Given the description of an element on the screen output the (x, y) to click on. 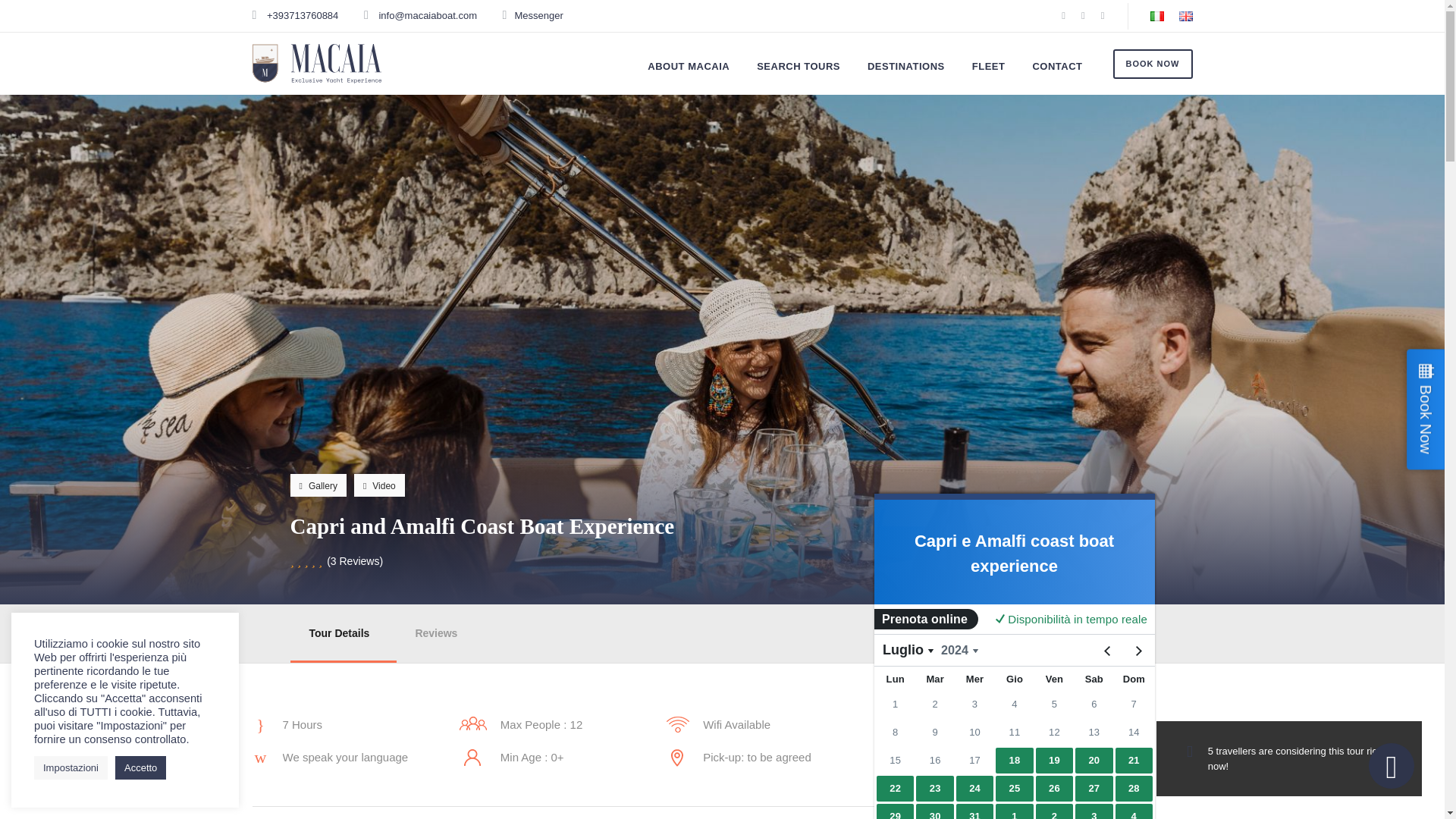
DESTINATIONS (905, 69)
single-icon-4 (473, 757)
Messenger (537, 15)
Gallery (317, 485)
youtube (1082, 15)
CONTACT (1056, 69)
single-icon-2 (473, 723)
instagram (1102, 15)
ABOUT MACAIA (688, 69)
facebook (1063, 15)
macaia-boat-logo-ori-svg (315, 63)
SEARCH TOURS (798, 69)
single-icon-3 (677, 724)
FareHarbor (1013, 711)
single-icon-5 (677, 757)
